Given the description of an element on the screen output the (x, y) to click on. 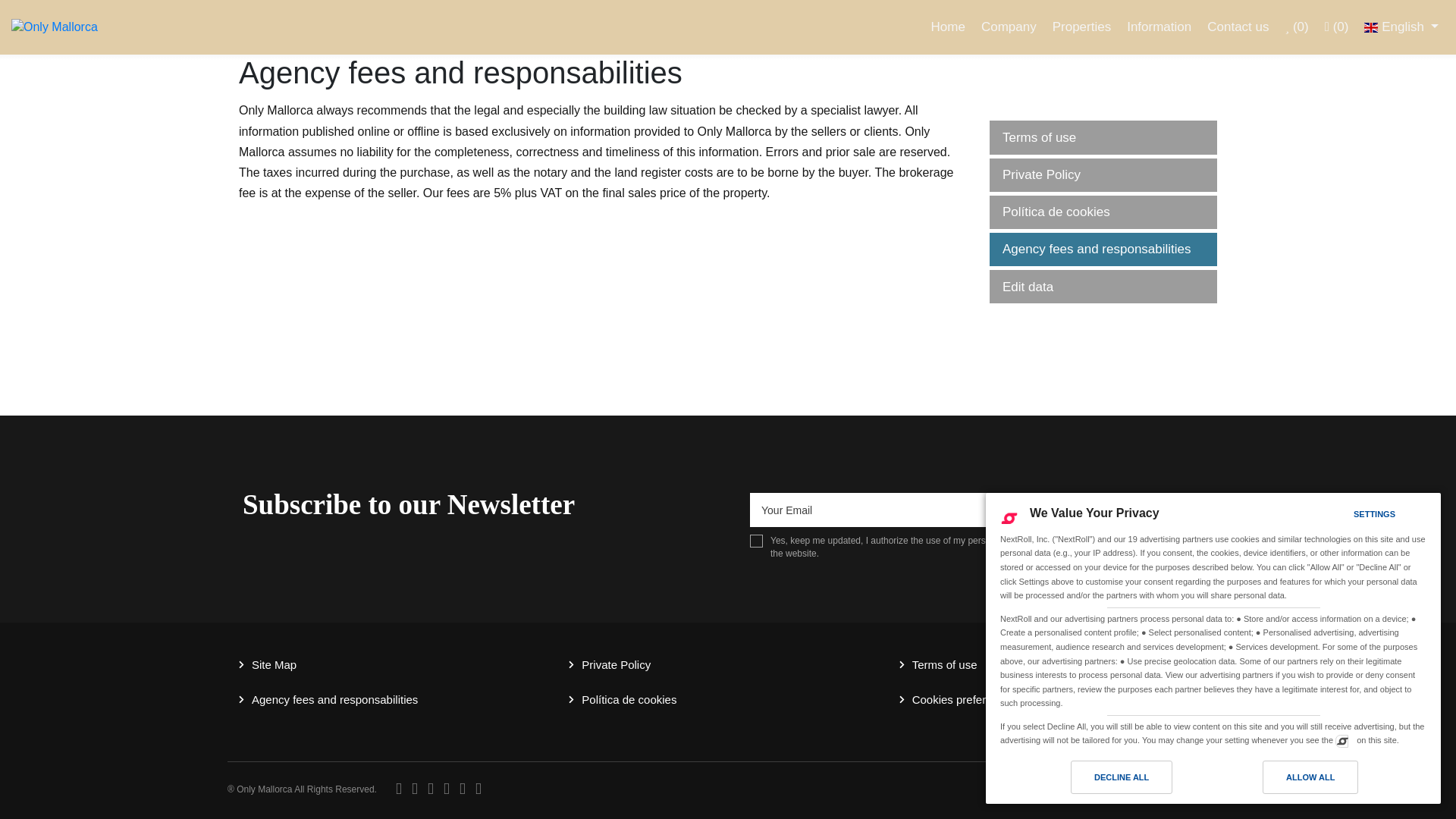
Terms of use (1103, 136)
English (1401, 27)
Edit data (1103, 286)
Favorite Properties (1296, 27)
Visited Properties (1337, 27)
Privacy Policy (1138, 540)
Cookies preferences (964, 698)
Company (1008, 27)
Properties (1081, 27)
Private Policy (1103, 174)
